Given the description of an element on the screen output the (x, y) to click on. 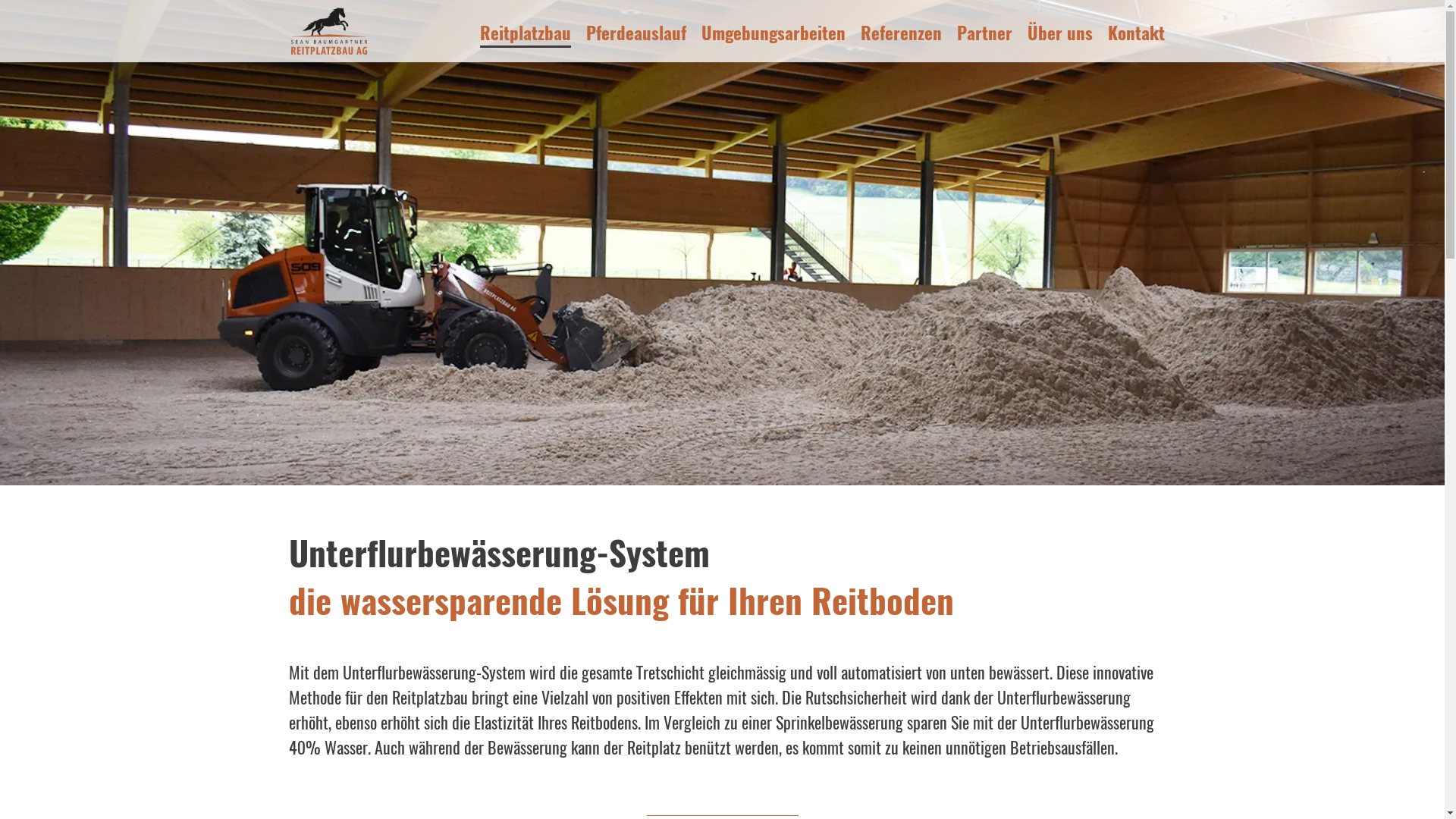
Kontakt Element type: text (1135, 34)
Partner Element type: text (984, 34)
Pferdeauslauf Element type: text (636, 34)
Umgebungsarbeiten Element type: text (773, 34)
Referenzen Element type: text (900, 34)
baumgartner-reitplatzbau.ch Element type: hover (329, 30)
Reitplatzbau Element type: text (525, 34)
